Given the description of an element on the screen output the (x, y) to click on. 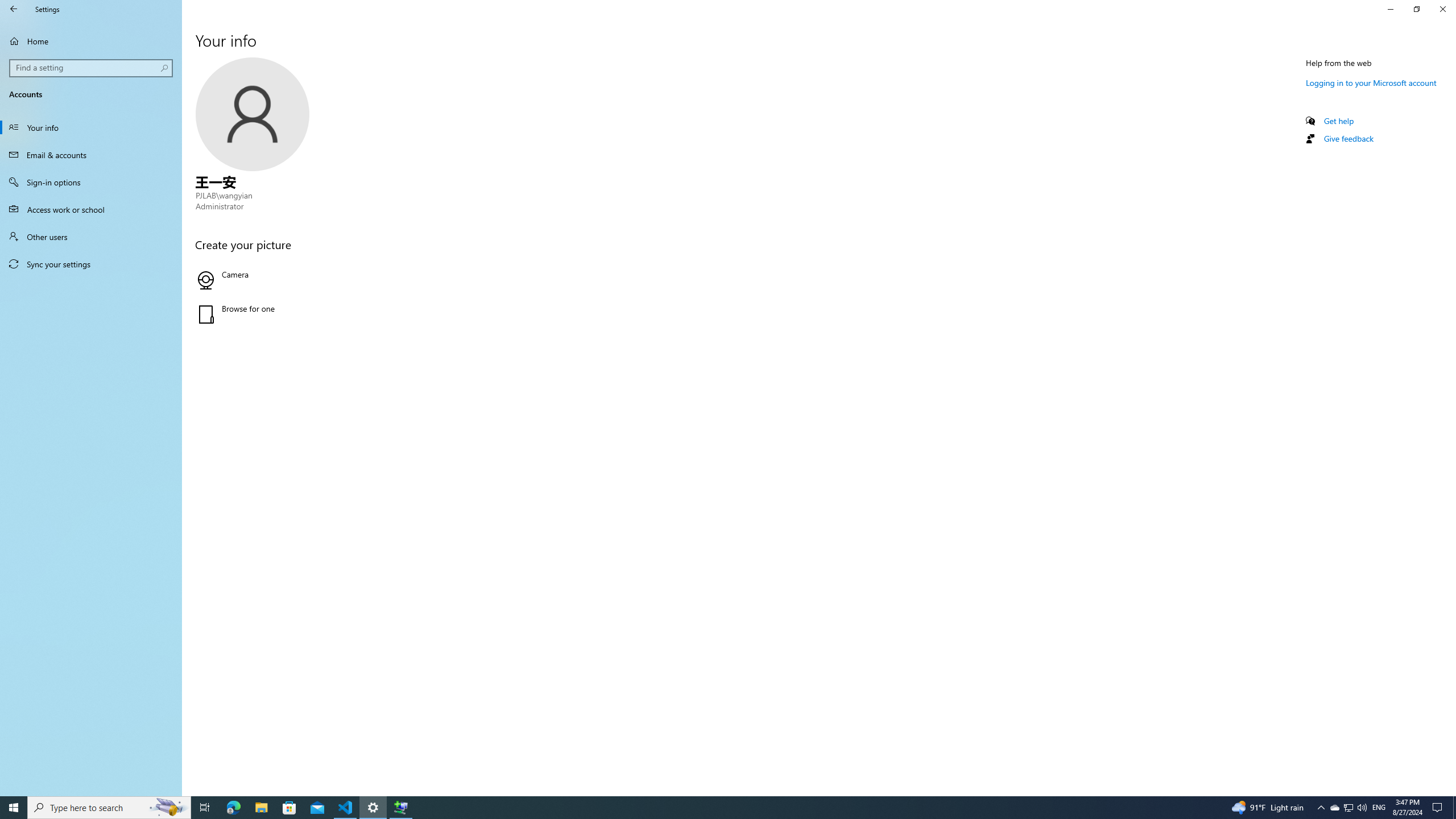
Other users (91, 236)
Sign-in options (91, 181)
Home (91, 40)
Restore Settings (1416, 9)
Sync your settings (91, 263)
Browse for one (319, 314)
